Given the description of an element on the screen output the (x, y) to click on. 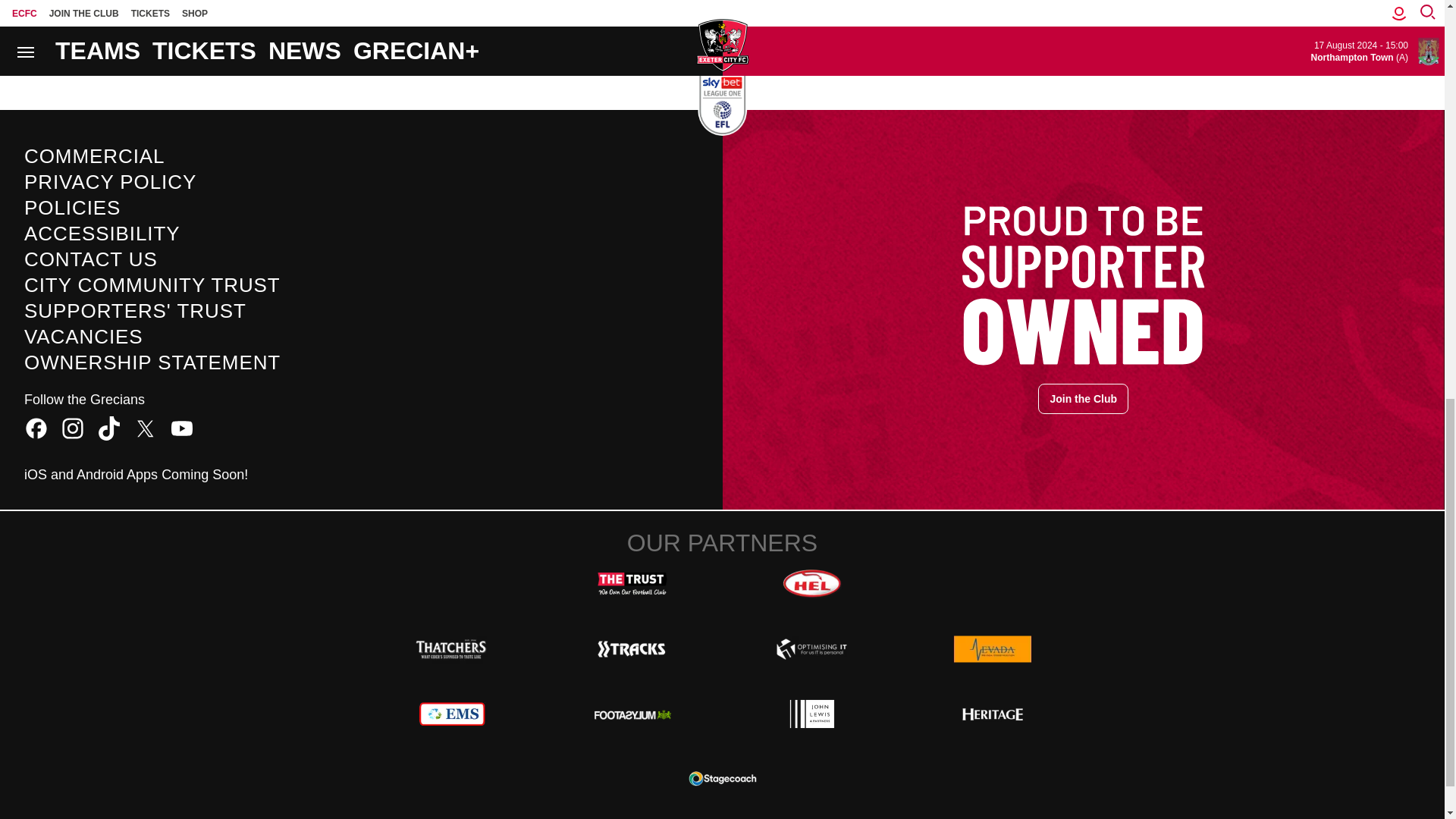
TikTok icon (108, 428)
Stagecoach (721, 778)
Footasylum (632, 714)
Instagram (72, 428)
Heritage Developments (991, 714)
EMS (451, 714)
Tracks Suzuki (632, 648)
Nevada Construction  (991, 648)
The Trust (632, 583)
HEL (812, 583)
